Given the description of an element on the screen output the (x, y) to click on. 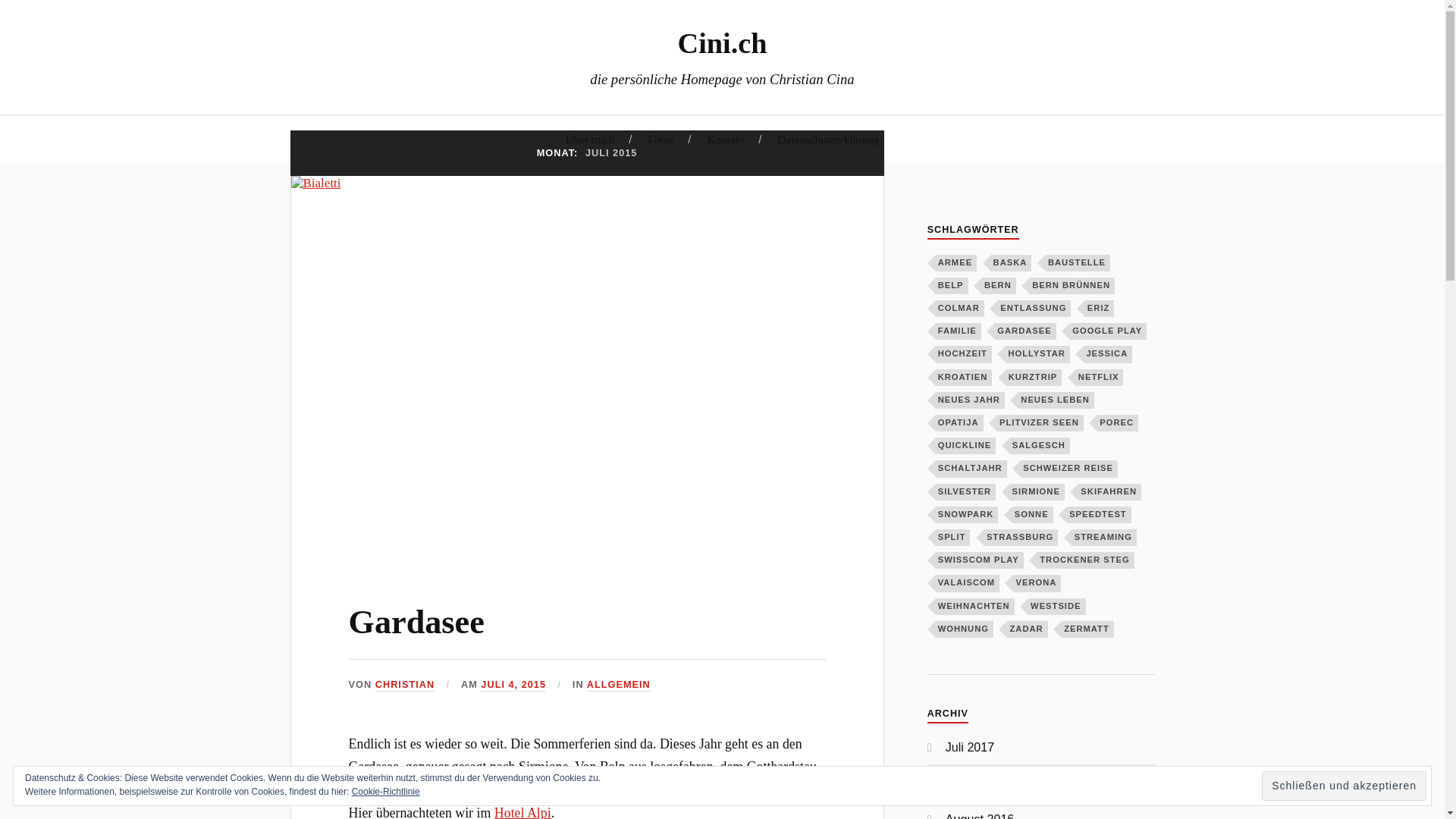
ALLGEMEIN Element type: text (618, 684)
STRASSBURG Element type: text (1020, 537)
SPLIT Element type: text (952, 537)
BELP Element type: text (951, 285)
HOCHZEIT Element type: text (963, 353)
VALAISCOM Element type: text (967, 582)
SALGESCH Element type: text (1040, 445)
SWISSCOM PLAY Element type: text (979, 560)
COLMAR Element type: text (959, 308)
ARMEE Element type: text (955, 262)
SILVESTER Element type: text (965, 491)
FAMILIE Element type: text (958, 331)
CHRISTIAN Element type: text (404, 684)
SONNE Element type: text (1032, 514)
SCHALTJAHR Element type: text (971, 468)
Fotos Element type: text (660, 139)
Januar 2017 Element type: text (979, 782)
KROATIEN Element type: text (963, 377)
NEUES JAHR Element type: text (969, 400)
POREC Element type: text (1117, 422)
WOHNUNG Element type: text (964, 629)
VERONA Element type: text (1036, 582)
OPATIJA Element type: text (959, 422)
Juli 2017 Element type: text (969, 746)
JULI 4, 2015 Element type: text (513, 684)
TROCKENER STEG Element type: text (1085, 560)
Gardasee Element type: text (416, 621)
NEUES LEBEN Element type: text (1056, 400)
STREAMING Element type: text (1104, 537)
SPEEDTEST Element type: text (1098, 514)
Cini.ch Element type: text (722, 43)
WESTSIDE Element type: text (1056, 606)
Kontakt Element type: text (724, 139)
JESSICA Element type: text (1107, 353)
HOLLYSTAR Element type: text (1037, 353)
NETFLIX Element type: text (1099, 377)
ENTLASSUNG Element type: text (1033, 308)
WEIHNACHTEN Element type: text (974, 606)
GOOGLE PLAY Element type: text (1108, 331)
BAUSTELLE Element type: text (1077, 262)
BERN Element type: text (999, 285)
Cookie-Richtlinie Element type: text (385, 791)
SIRMIONE Element type: text (1037, 491)
SKIFAHREN Element type: text (1109, 491)
PLITVIZER SEEN Element type: text (1040, 422)
ZERMATT Element type: text (1087, 629)
BASKA Element type: text (1011, 262)
SCHWEIZER REISE Element type: text (1068, 468)
KURZTRIP Element type: text (1034, 377)
ERIZ Element type: text (1099, 308)
GARDASEE Element type: text (1024, 331)
ZADAR Element type: text (1027, 629)
QUICKLINE Element type: text (965, 445)
SNOWPARK Element type: text (966, 514)
